Given the description of an element on the screen output the (x, y) to click on. 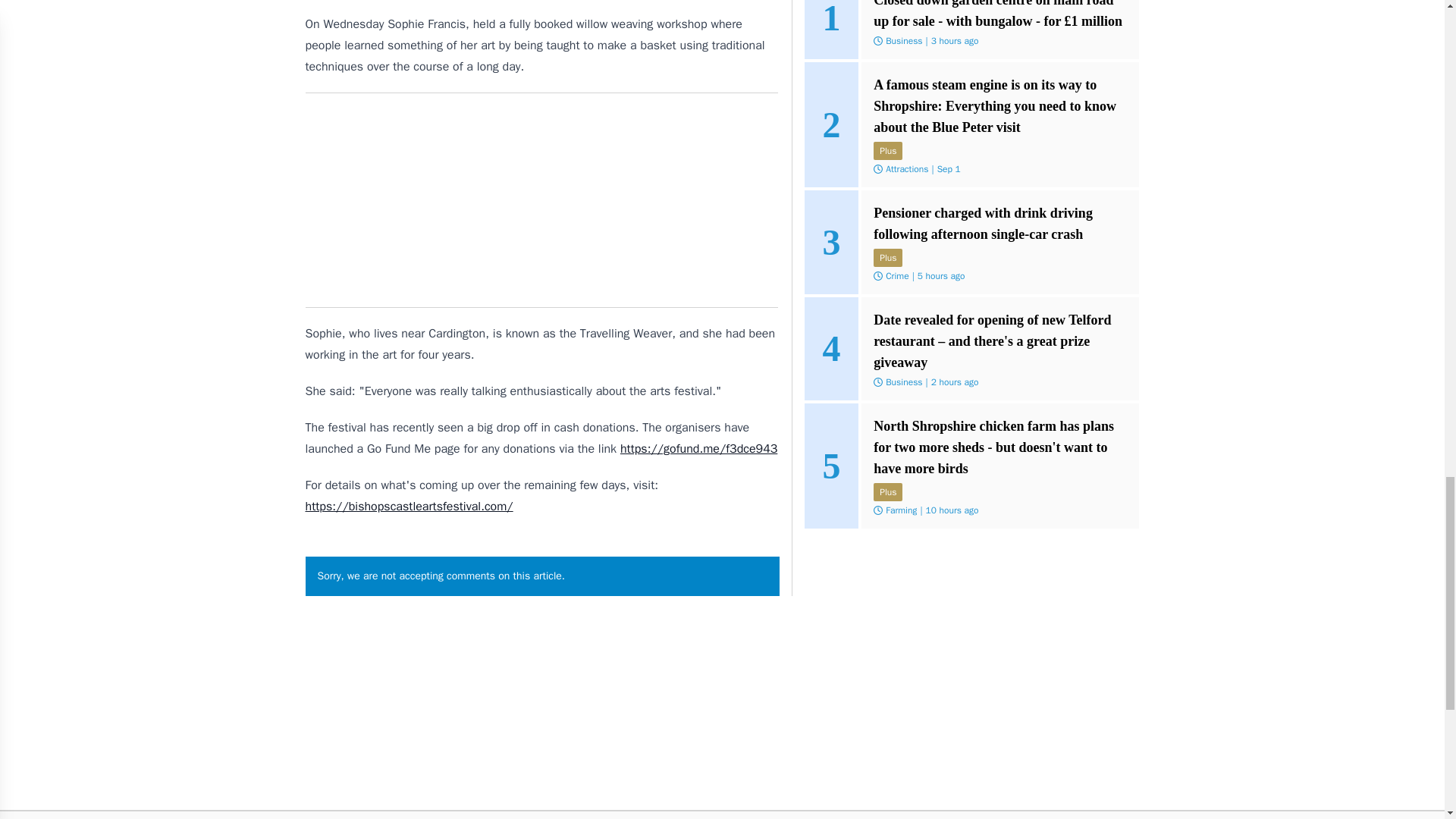
Business (903, 381)
Farming (901, 509)
Business (903, 40)
Attractions (906, 168)
Crime (896, 275)
